Given the description of an element on the screen output the (x, y) to click on. 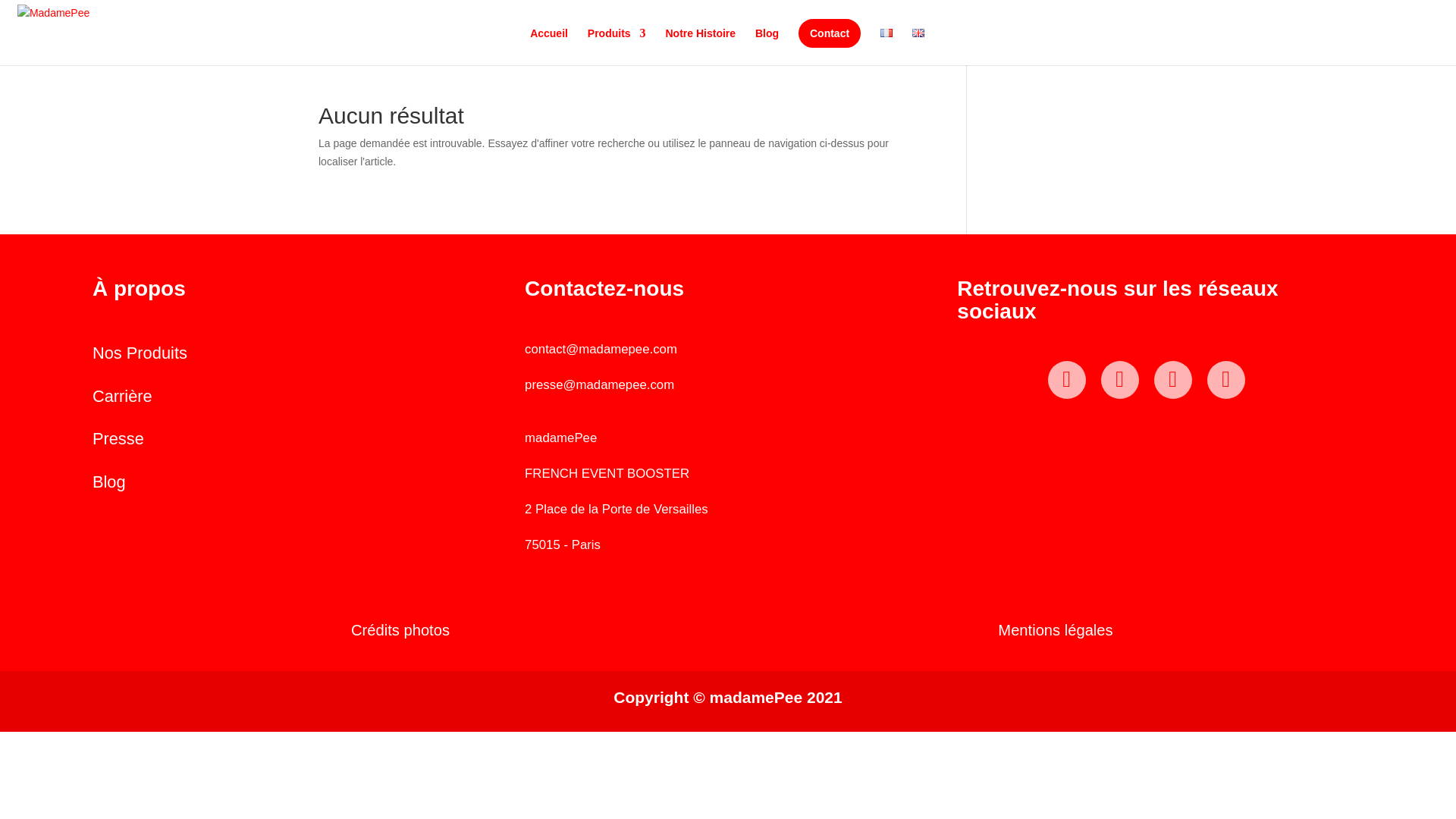
Blog (109, 481)
Blog (109, 481)
Linkedin (1127, 379)
Presse (118, 438)
Notre Histoire (700, 46)
Contact (828, 32)
Carriere (122, 395)
Nos Produits (140, 352)
Twitter (1233, 379)
Notre urinoire (140, 352)
